Given the description of an element on the screen output the (x, y) to click on. 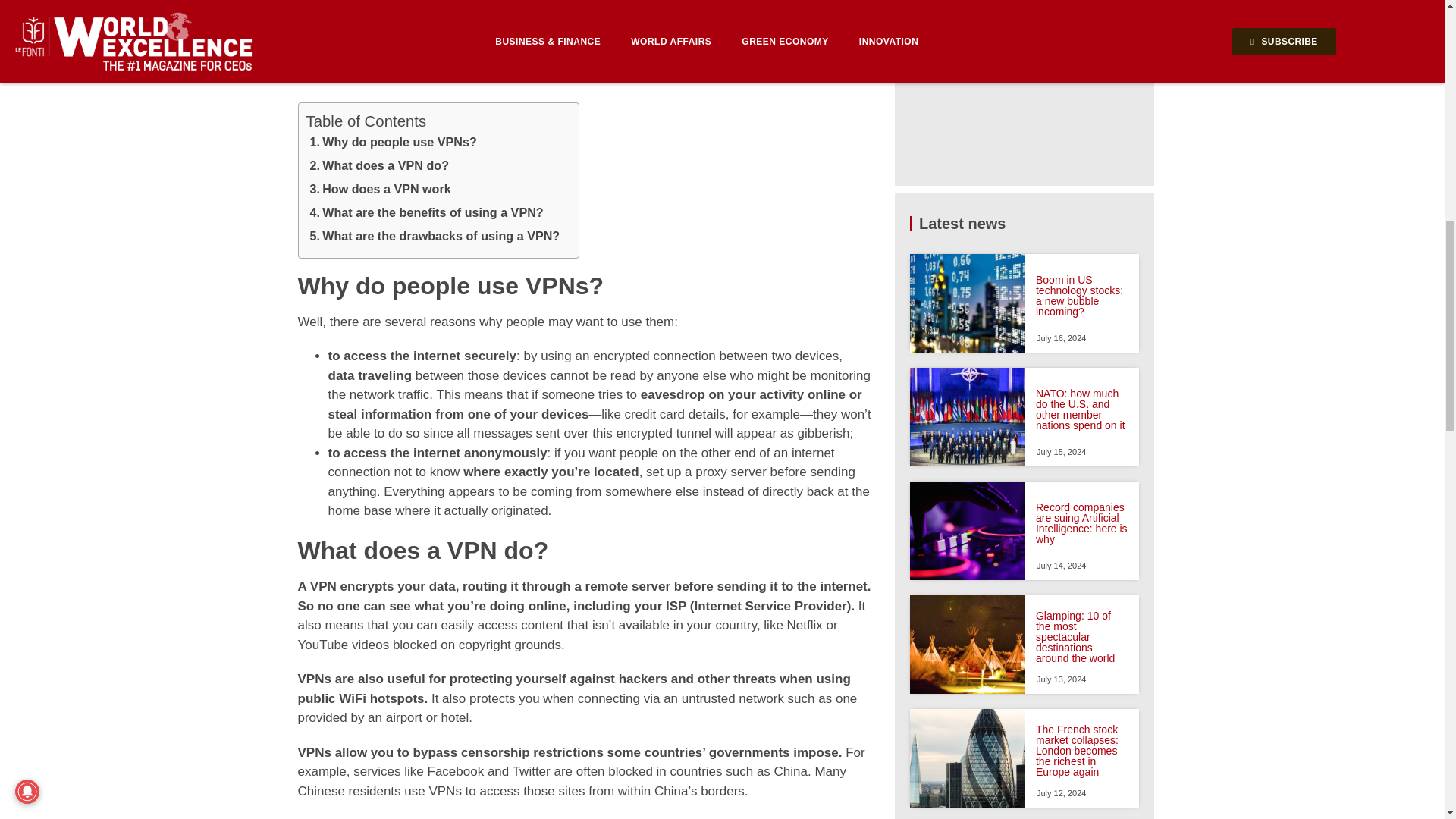
What are the drawbacks of using a VPN? (434, 238)
Why do people use VPNs?  (392, 144)
What are the benefits of using a VPN? (426, 214)
What are the drawbacks of using a VPN? (434, 238)
What does a VPN do? (378, 167)
Why do people use VPNs? (392, 144)
What are the benefits of using a VPN? (426, 214)
How does a VPN work (379, 191)
What does a VPN do? (378, 167)
How does a VPN work (379, 191)
